Given the description of an element on the screen output the (x, y) to click on. 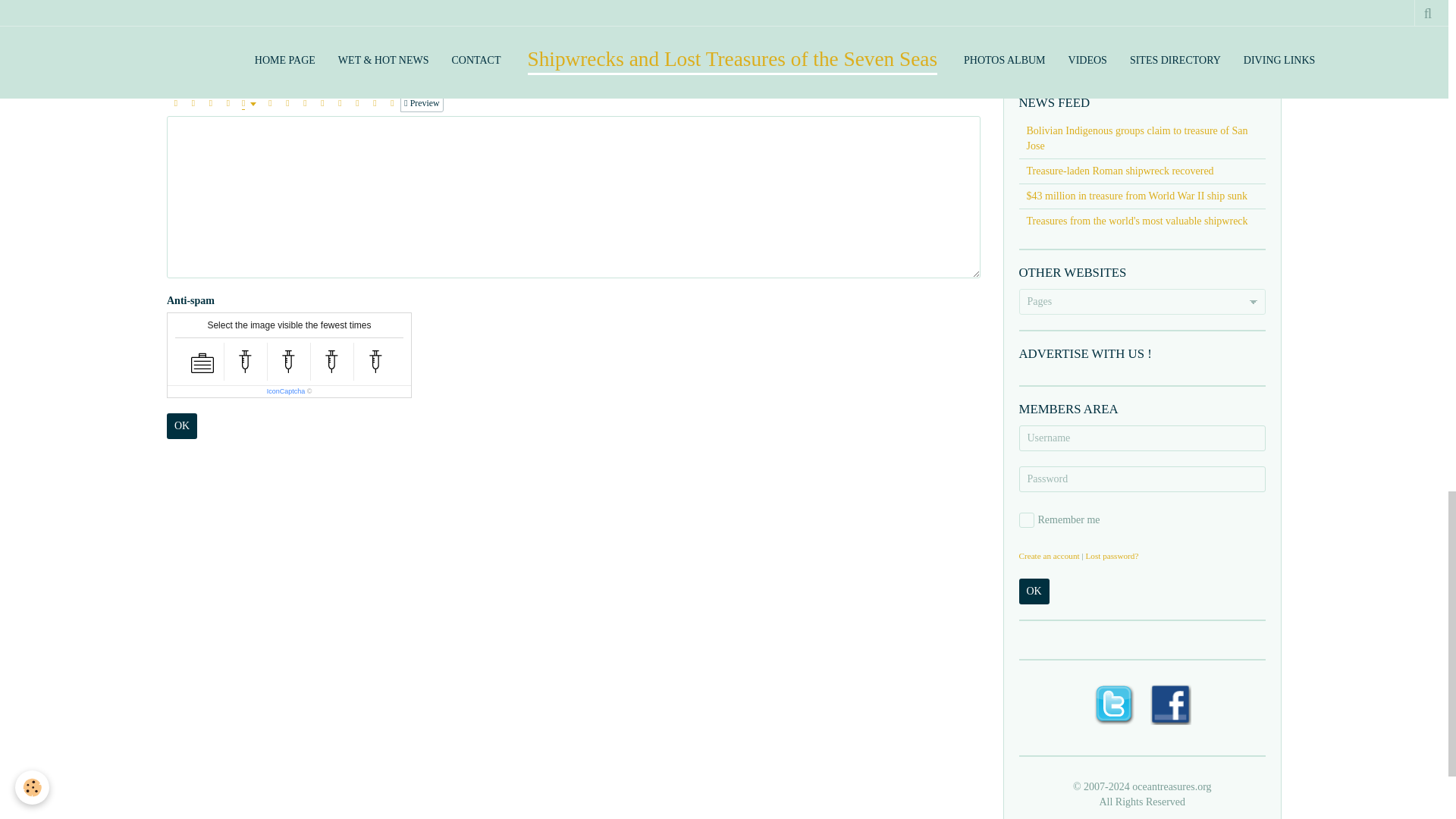
Image (339, 103)
Text color (248, 103)
w (1161, 5)
Text center (287, 103)
Code (374, 103)
Bold (175, 103)
Italics (193, 103)
Video (356, 103)
Hidden text (322, 103)
Link (304, 103)
search (1100, 43)
Smileys (391, 103)
Text size (228, 103)
Quote (269, 103)
s (1120, 5)
